Given the description of an element on the screen output the (x, y) to click on. 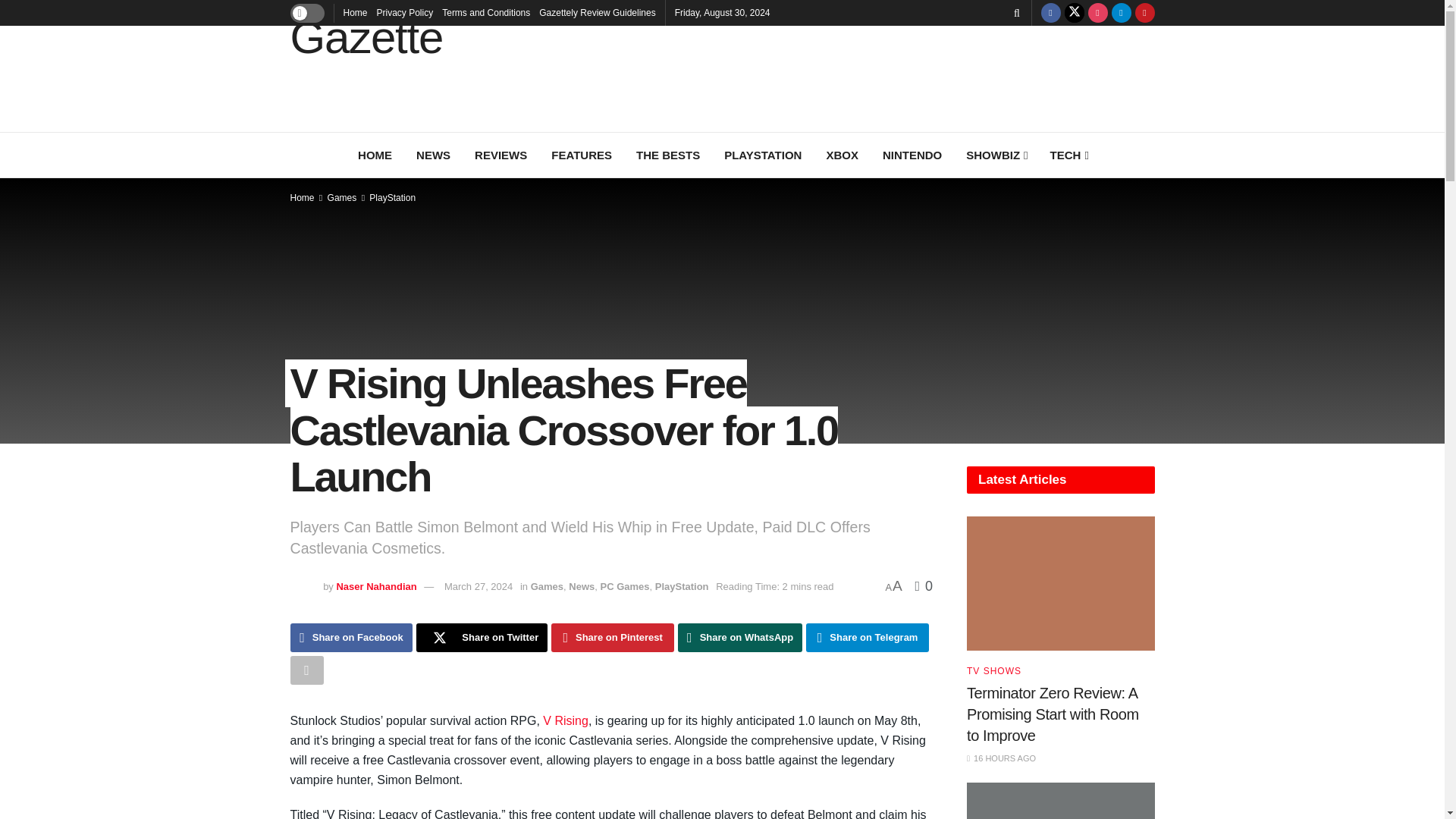
SHOWBIZ (994, 154)
REVIEWS (500, 154)
HOME (375, 154)
Gazettely Review Guidelines (596, 12)
Privacy Policy (405, 12)
NINTENDO (911, 154)
PLAYSTATION (762, 154)
THE BESTS (667, 154)
Home (354, 12)
NEWS (433, 154)
